Given the description of an element on the screen output the (x, y) to click on. 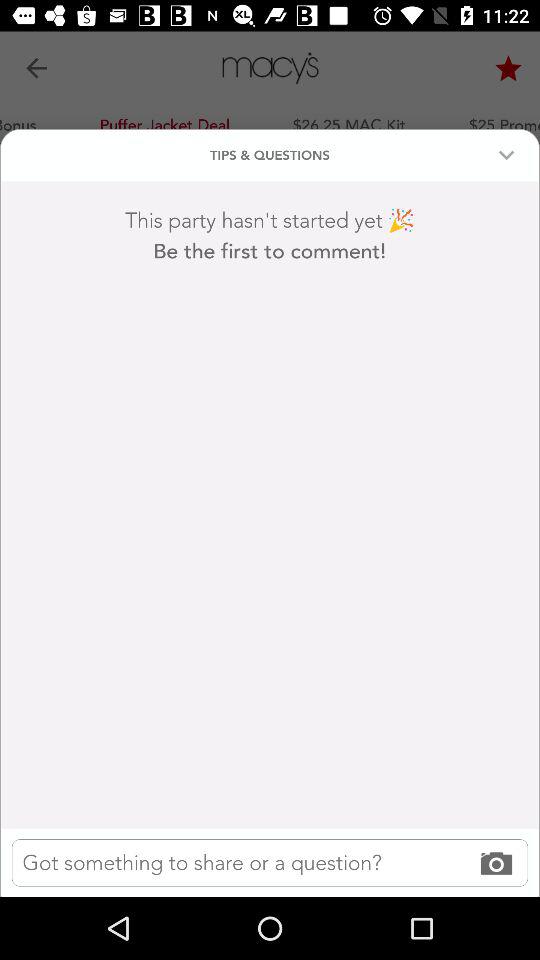
take picture (270, 862)
